Given the description of an element on the screen output the (x, y) to click on. 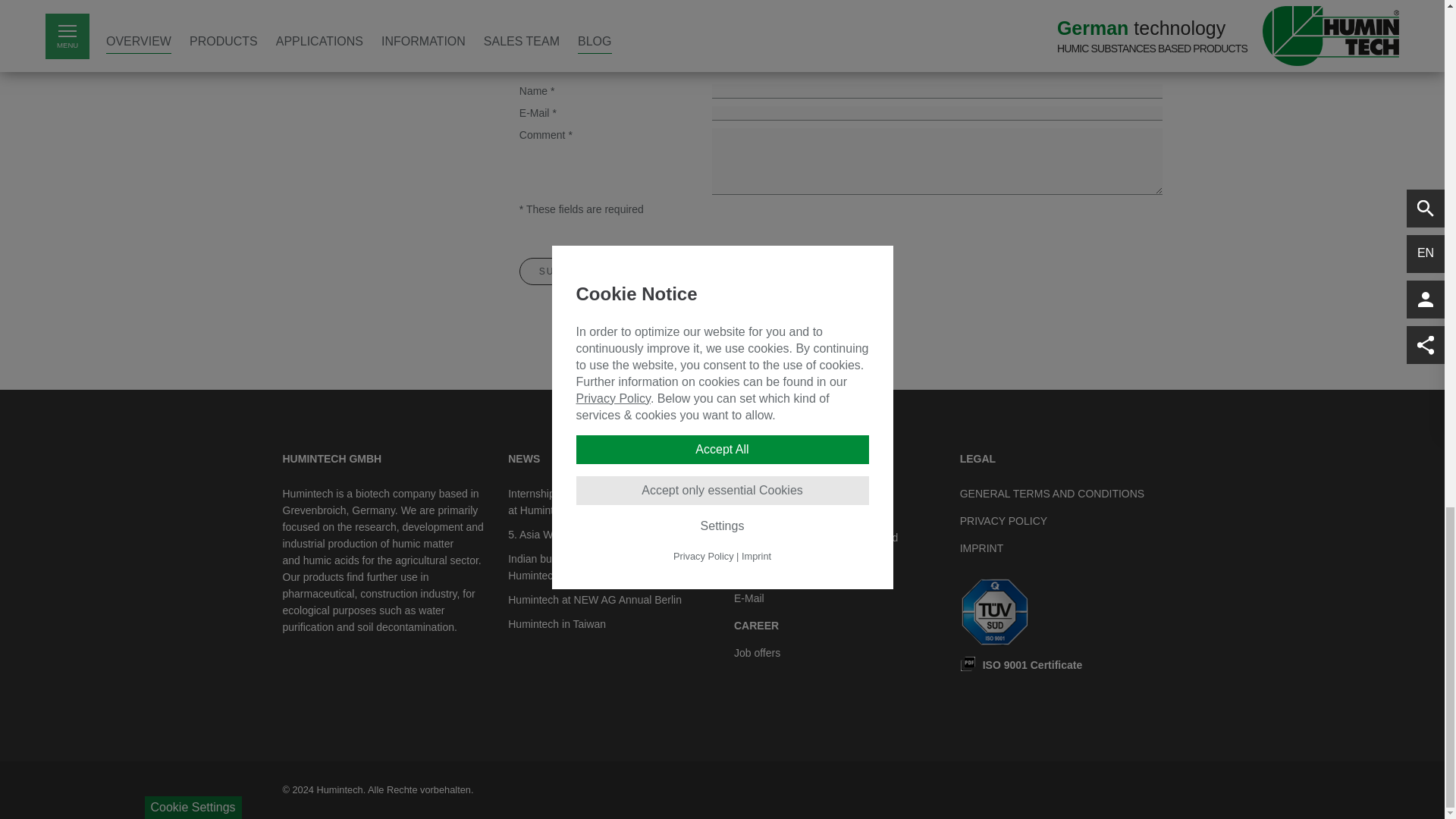
Submit (560, 271)
